Given the description of an element on the screen output the (x, y) to click on. 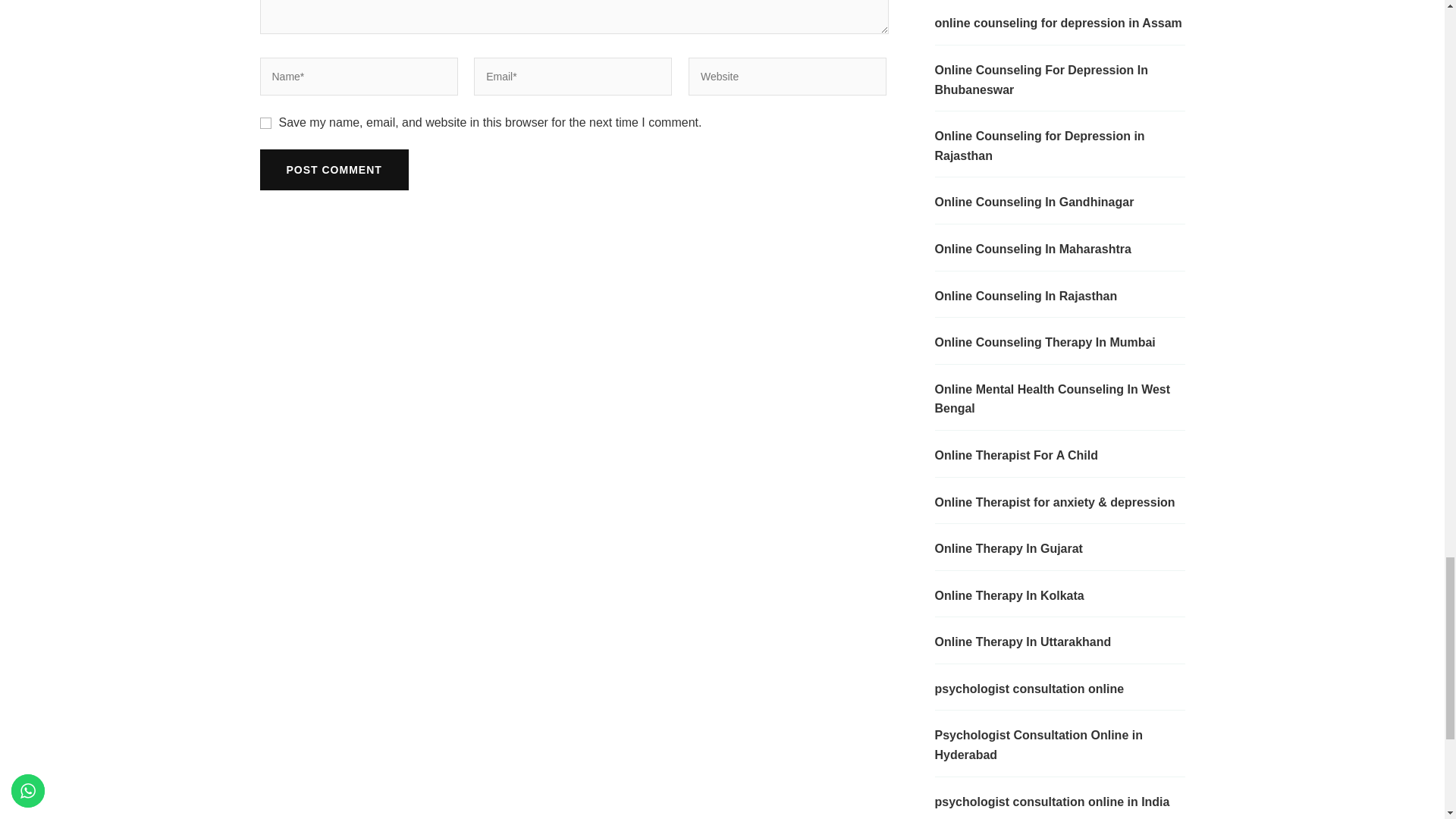
Post Comment (333, 169)
Post Comment (333, 169)
